Given the description of an element on the screen output the (x, y) to click on. 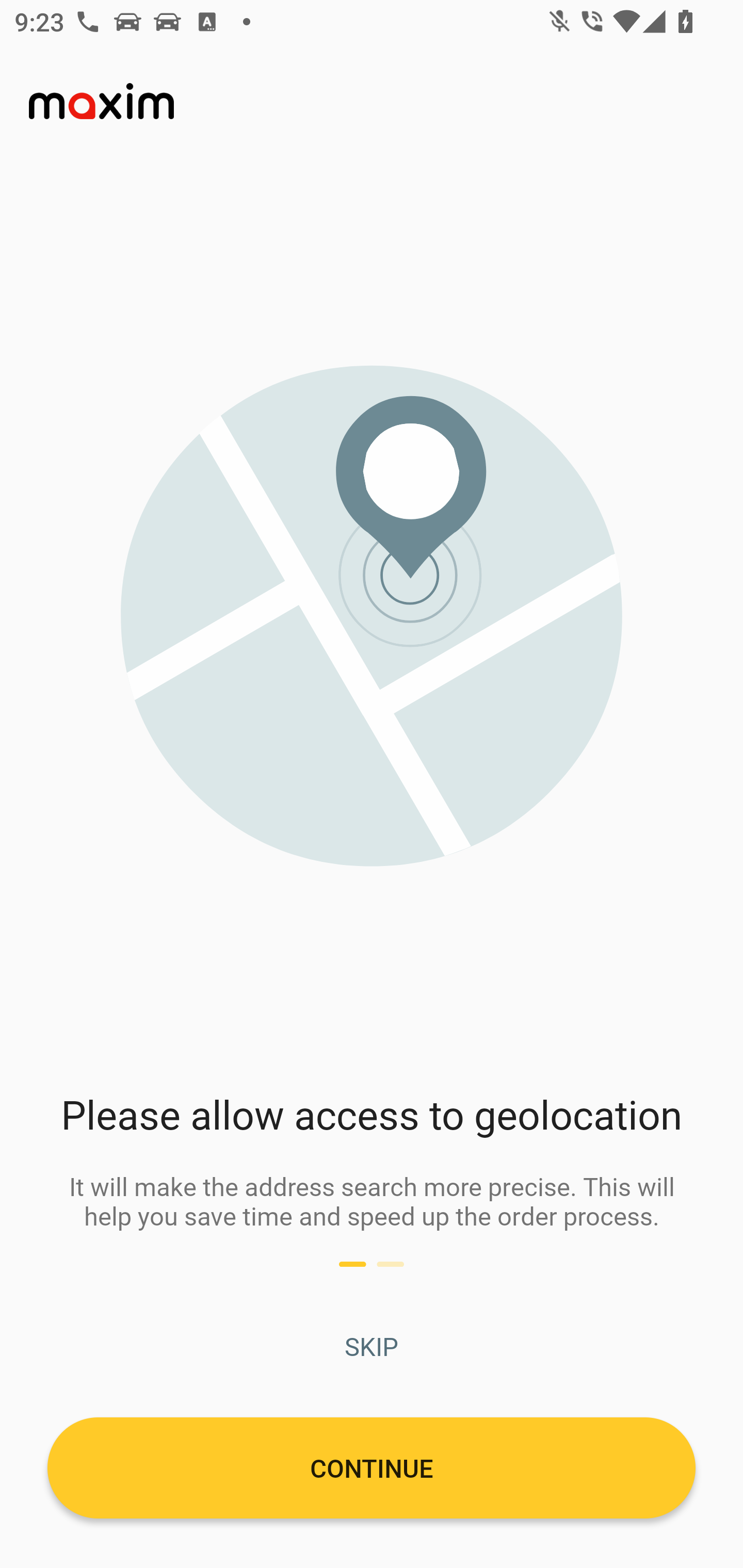
SKIP (371, 1346)
CONTINUE (371, 1467)
